Given the description of an element on the screen output the (x, y) to click on. 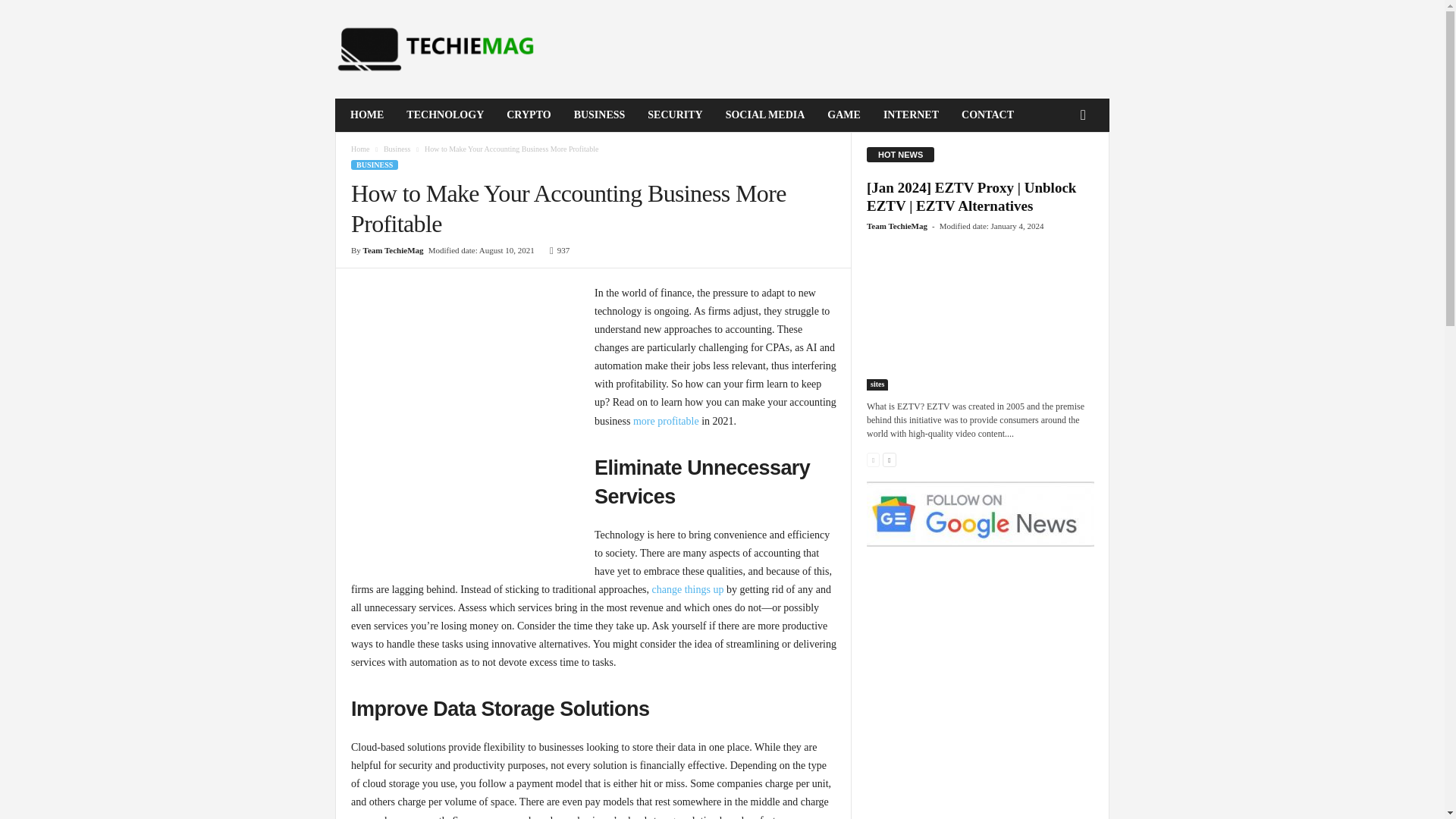
INTERNET (911, 114)
GAME (843, 114)
SECURITY (674, 114)
BUSINESS (599, 114)
View all posts in Business (397, 148)
TECHNOLOGY (444, 114)
CRYPTO (528, 114)
TechieMag (437, 48)
SOCIAL MEDIA (765, 114)
HOME (366, 114)
TechieMag (437, 48)
CONTACT (987, 114)
